Given the description of an element on the screen output the (x, y) to click on. 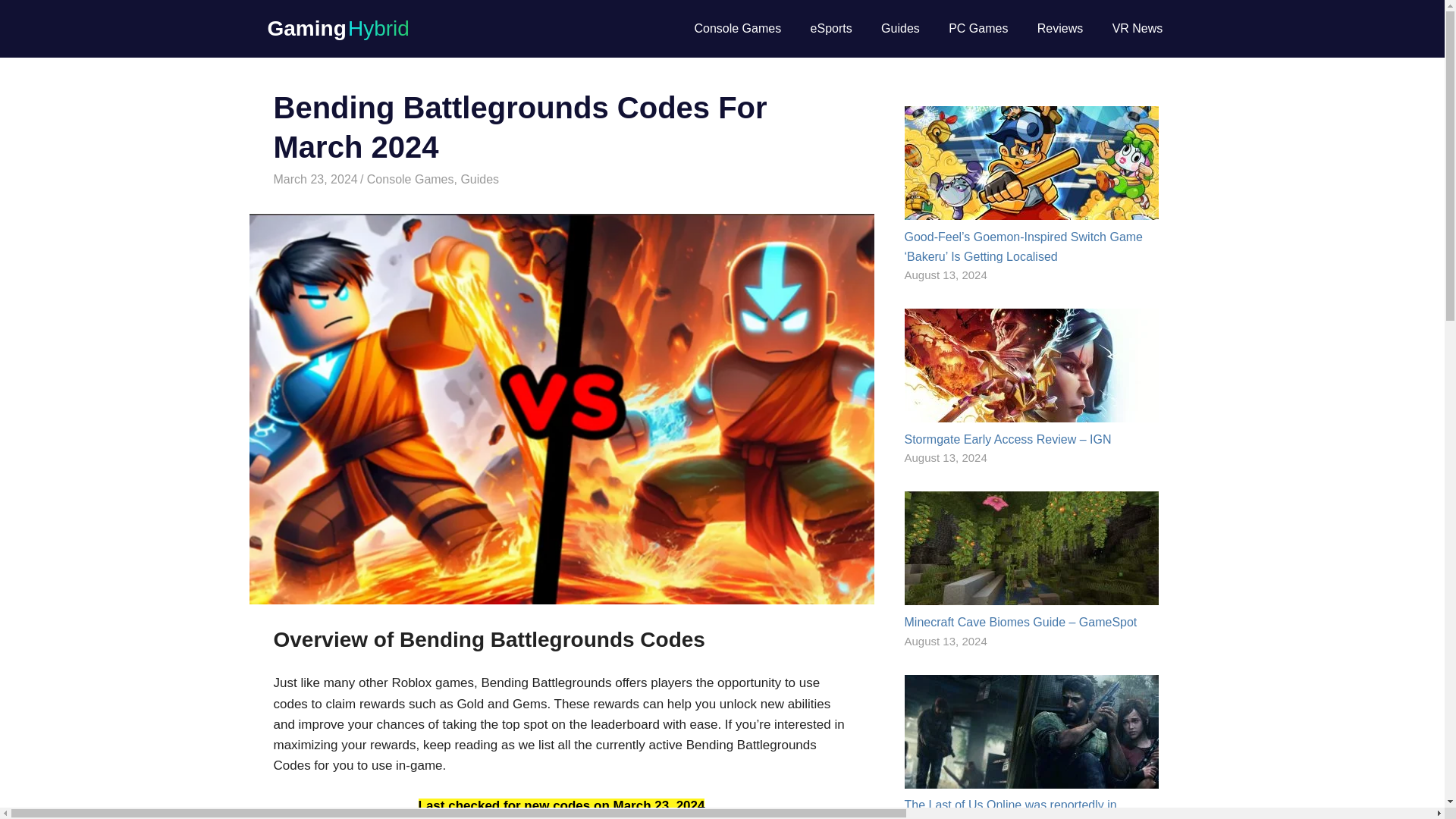
Console Games (410, 178)
March 23, 2024 (314, 178)
Console Games (736, 28)
VR News (1136, 28)
Guides (900, 28)
Gaming Hybrid (337, 28)
Reviews (1060, 28)
Guides (479, 178)
8:42 am (314, 178)
GamingHybrid (401, 178)
